Given the description of an element on the screen output the (x, y) to click on. 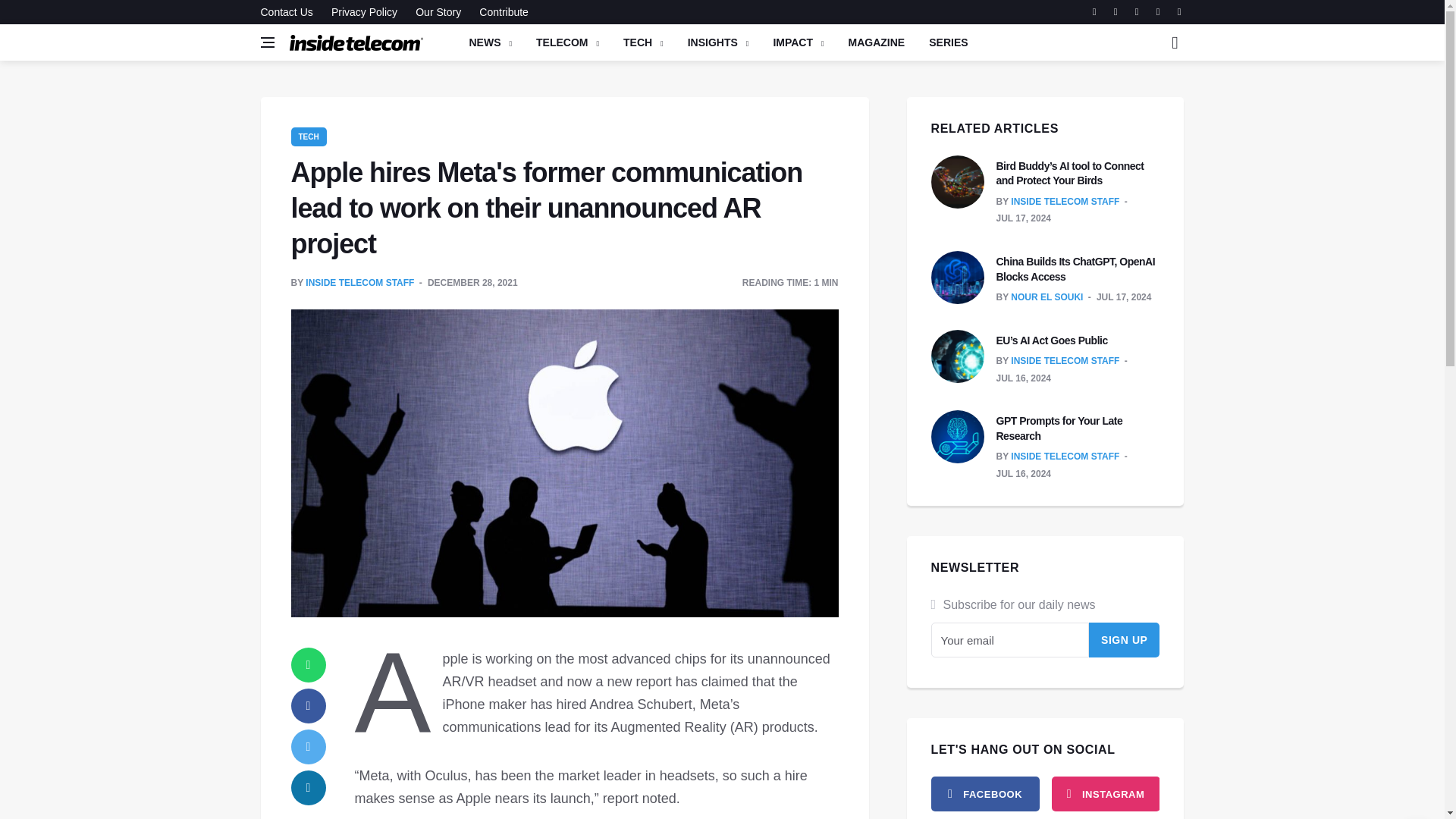
instagram (1104, 793)
facebook (308, 705)
linkedin (308, 787)
Our Story (437, 12)
twitter (308, 746)
Contact Us (290, 12)
facebook (985, 793)
whatsapp (308, 664)
Sign Up (1124, 639)
Privacy Policy (363, 12)
Contribute (499, 12)
